Given the description of an element on the screen output the (x, y) to click on. 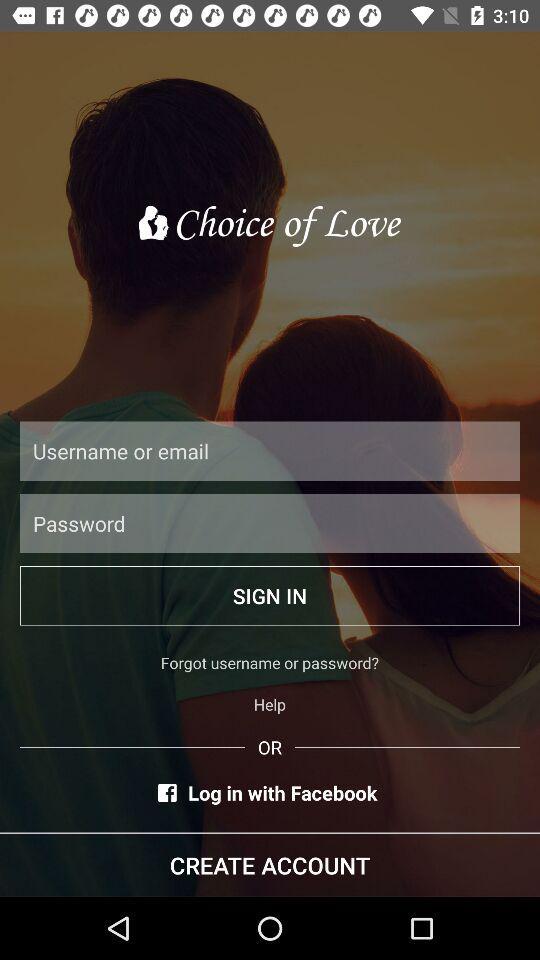
scroll until log in with item (269, 792)
